Given the description of an element on the screen output the (x, y) to click on. 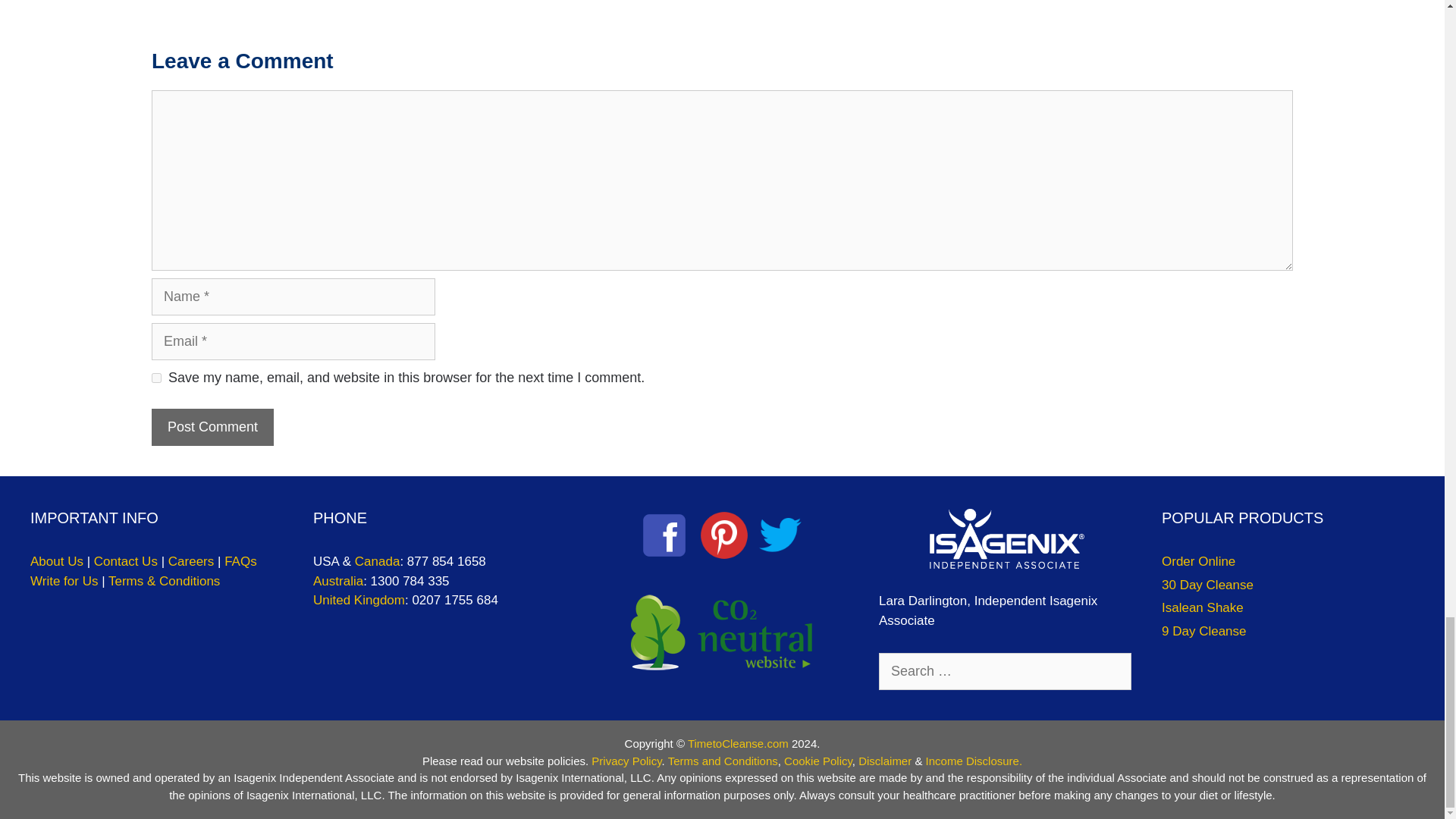
yes (156, 378)
Search for: (1005, 671)
Post Comment (212, 426)
